Given the description of an element on the screen output the (x, y) to click on. 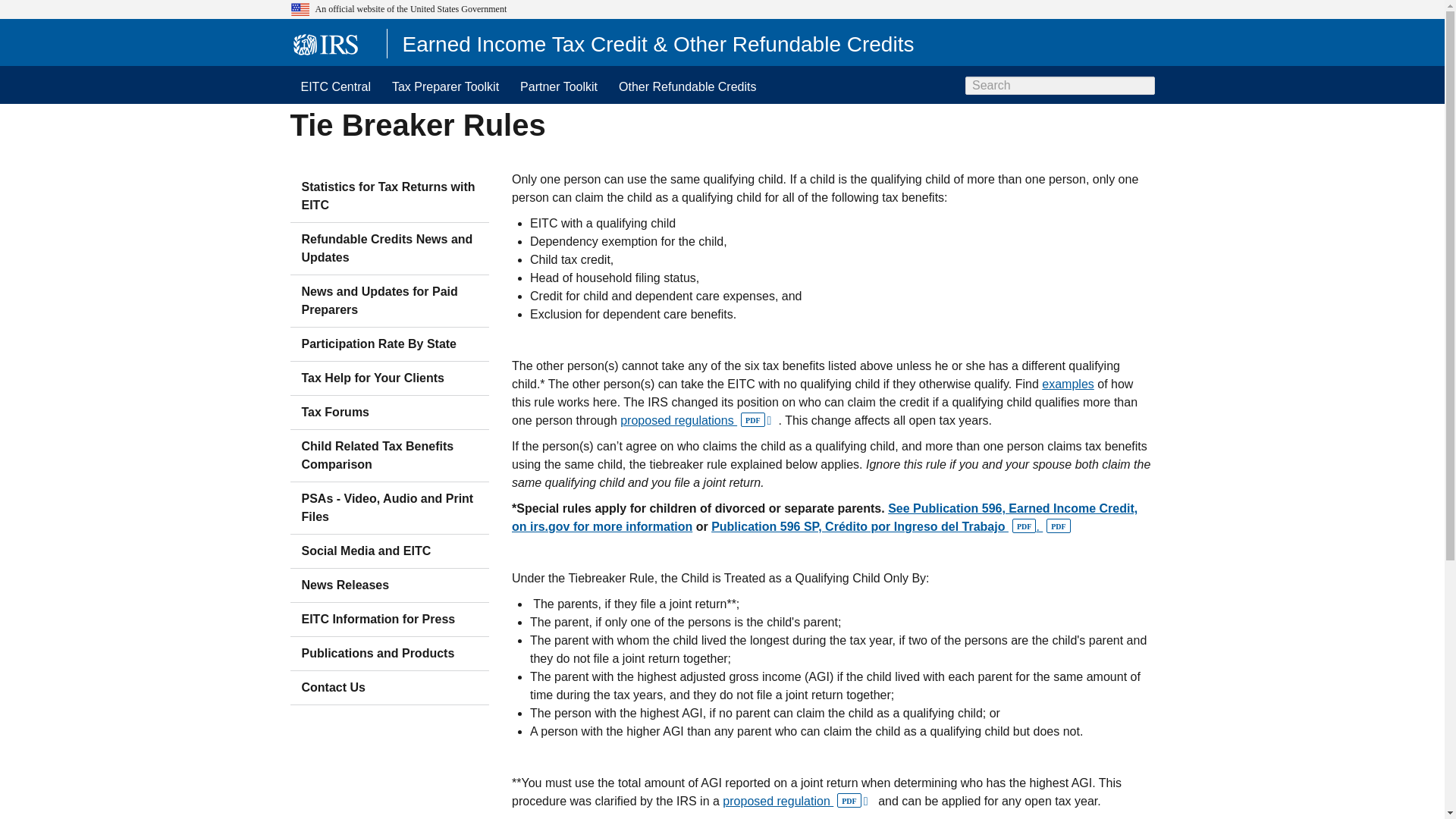
Link to Applying Tiebreaker Rules page (1067, 383)
Search (1144, 85)
PSAs - Video, Audio and Print Files (389, 507)
Click here for about P596 on irs.gov (824, 517)
News Releases (389, 584)
Contact Us (389, 687)
EITC Information for Press (389, 619)
Statistics for Tax Returns with EITC (389, 195)
Tax Help for Your Clients (389, 377)
Statistics for Tax Returns with EITC (389, 195)
Refundable Credits News and Updates (389, 248)
Tax Preparer Toolkit (445, 85)
Partner Toolkit (558, 85)
Child Related Tax Benefits Comparison (389, 455)
